Given the description of an element on the screen output the (x, y) to click on. 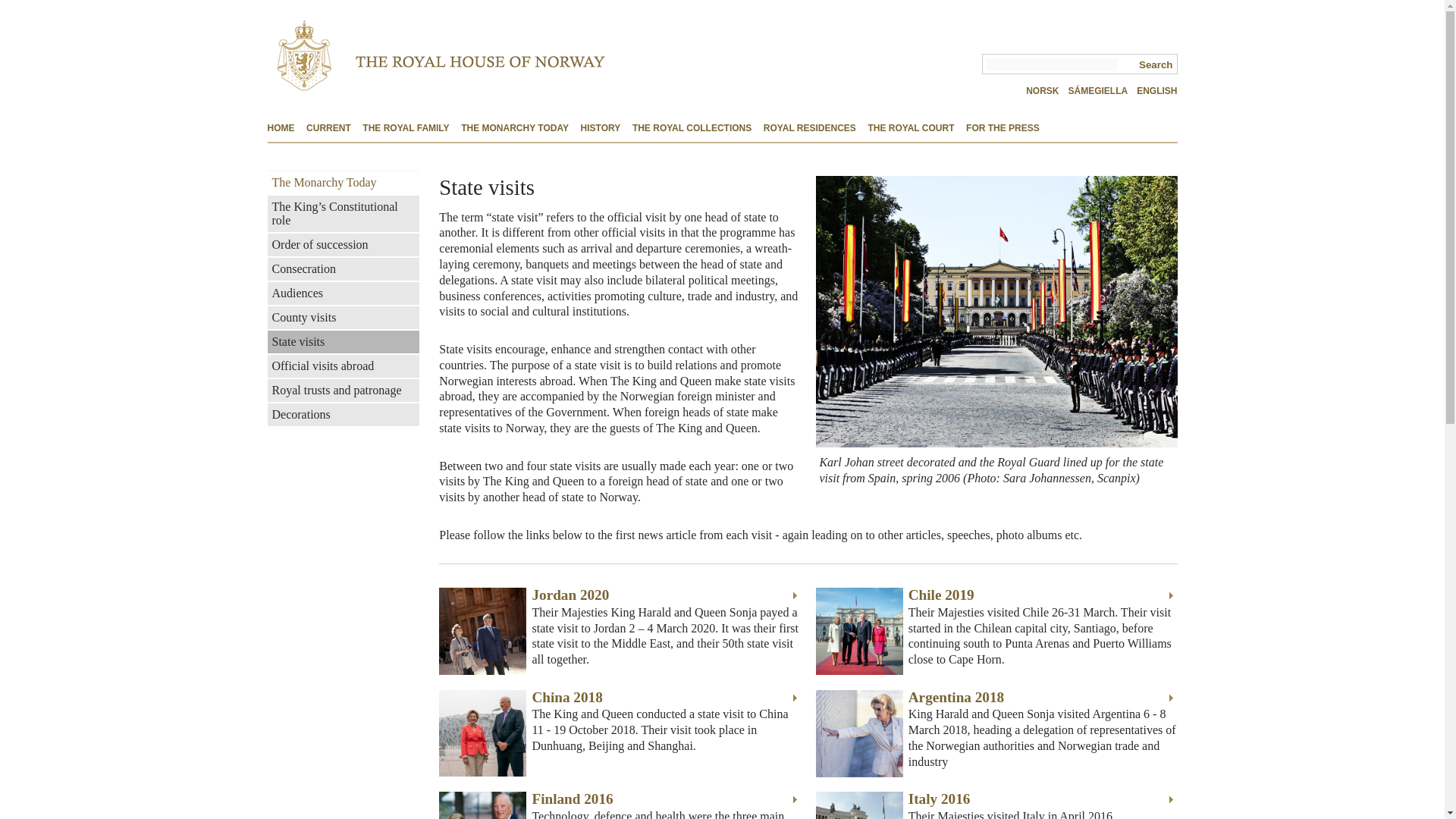
Search (1154, 64)
Order of succession (342, 244)
ROYAL RESIDENCES (809, 128)
CURRENT (327, 128)
THE MONARCHY TODAY (515, 128)
Royal trusts and patronage (342, 390)
County visits (342, 317)
State visits (342, 341)
